Given the description of an element on the screen output the (x, y) to click on. 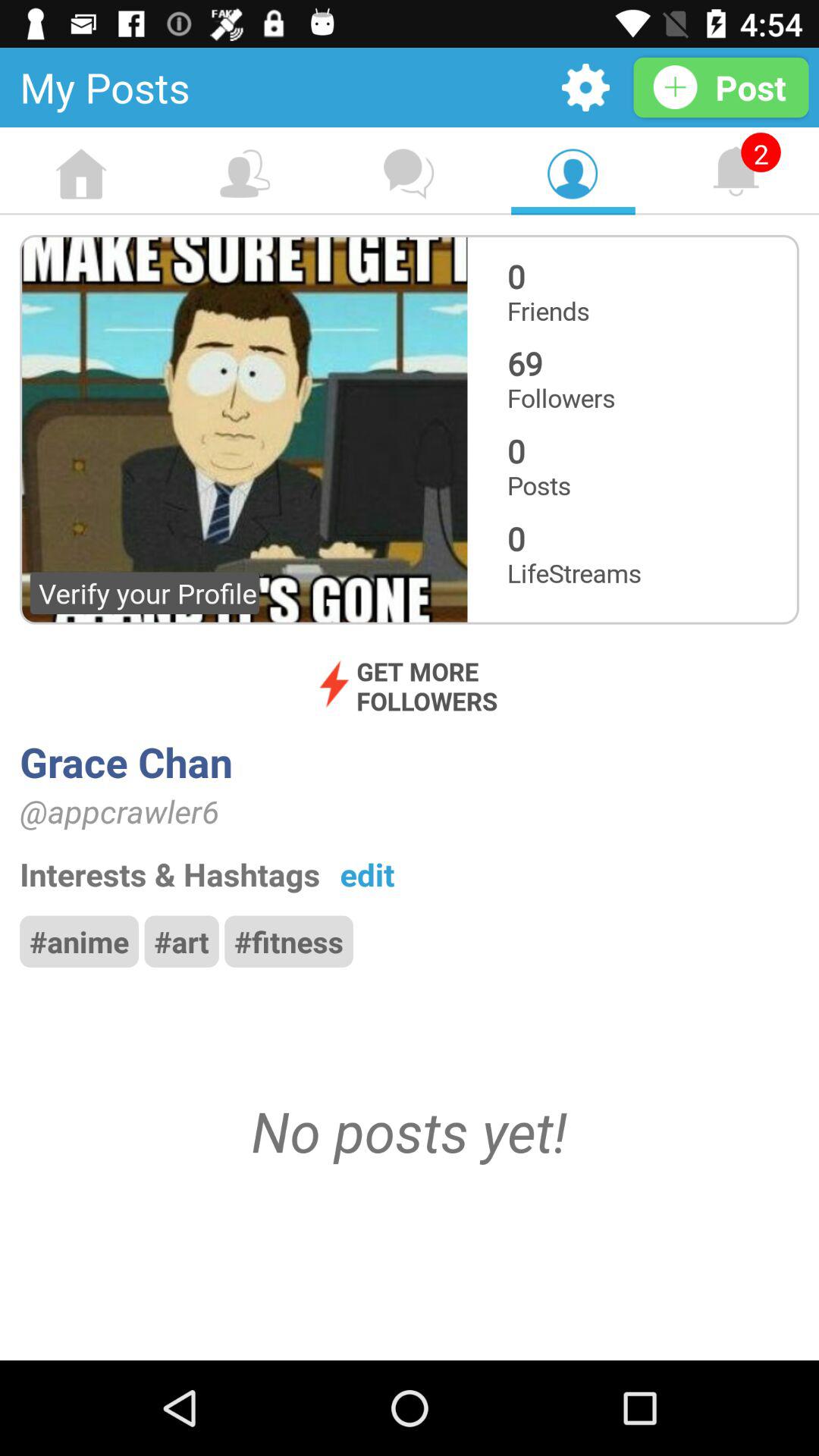
click the item below @appcrawler6 item (367, 873)
